Given the description of an element on the screen output the (x, y) to click on. 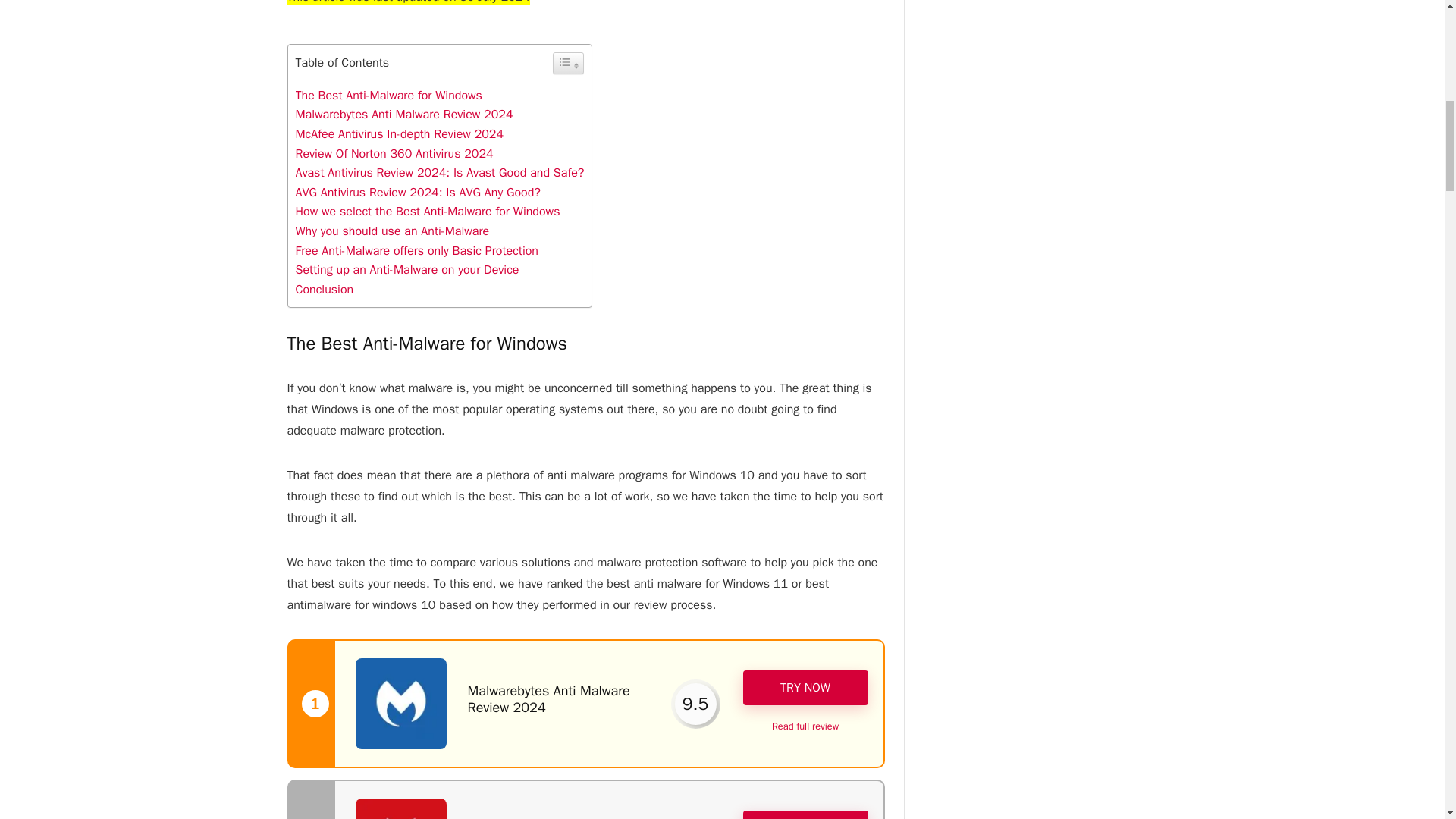
Setting up an Anti-Malware on your Device (407, 269)
How we select the Best Anti-Malware for Windows (427, 211)
TRY NOW (804, 687)
Malwarebytes Anti Malware Review 2024 (547, 698)
Malwarebytes Anti Malware Review 2024 (404, 114)
McAfee Antivirus In-depth Review 2024 (399, 133)
Avast Antivirus Review 2024: Is Avast Good and Safe? (440, 172)
Setting up an Anti-Malware on your Device (407, 269)
The Best Anti-Malware for Windows  (390, 95)
Avast Antivirus Review 2024: Is Avast Good and Safe? (440, 172)
AVG Antivirus Review 2024: Is AVG Any Good? (417, 192)
Review Of Norton 360 Antivirus 2024 (394, 153)
AVG Antivirus Review 2024: Is AVG Any Good? (417, 192)
